Given the description of an element on the screen output the (x, y) to click on. 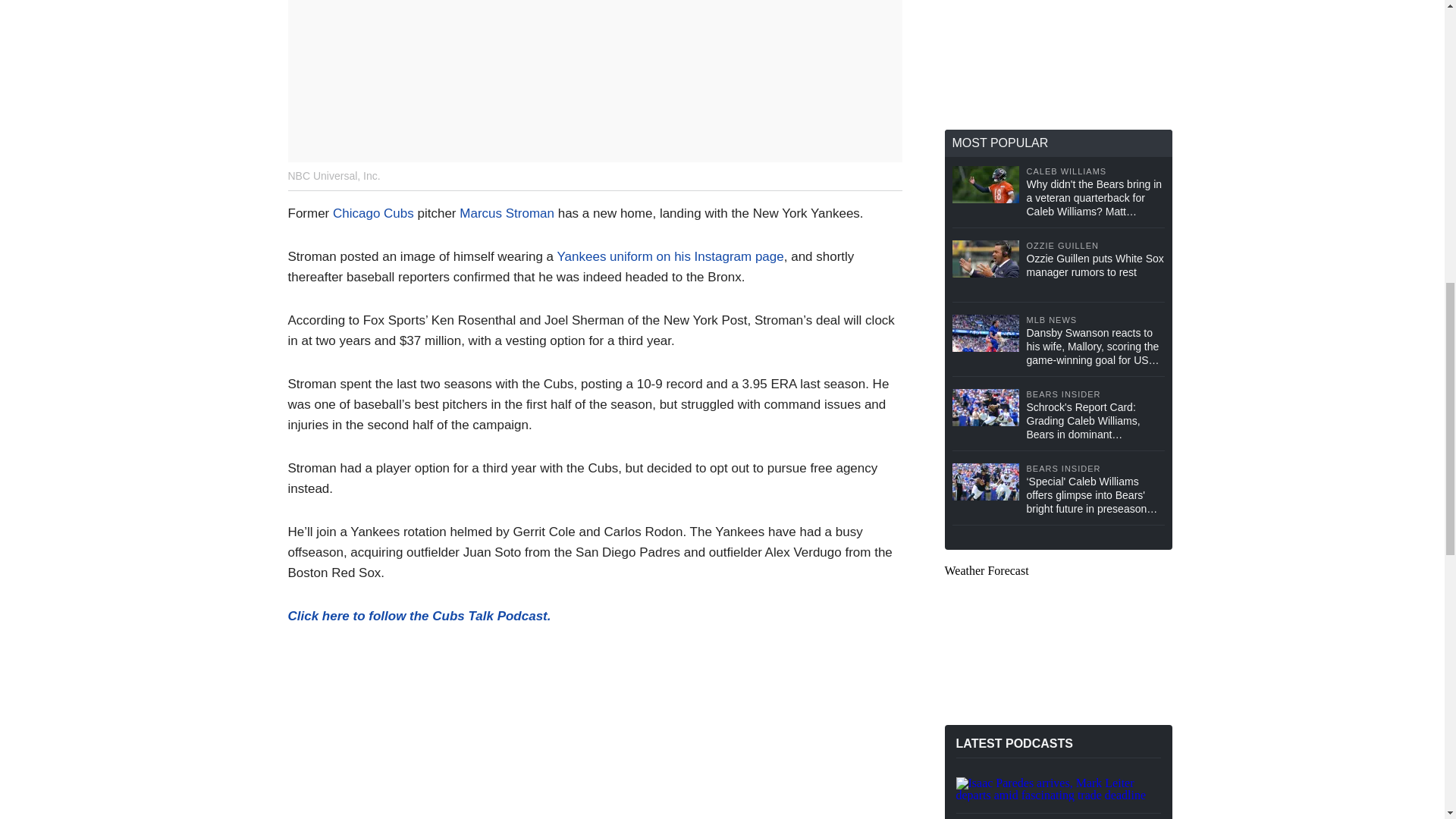
Chicago Cubs (373, 213)
Ozzie Guillen puts White Sox manager rumors to rest (1095, 265)
CALEB WILLIAMS (1095, 171)
Click here to follow the Cubs Talk Podcast. (419, 616)
OZZIE GUILLEN (1095, 245)
3rd party ad content (1058, 55)
Yankees uniform on his Instagram page (668, 256)
Marcus Stroman (507, 213)
